Given the description of an element on the screen output the (x, y) to click on. 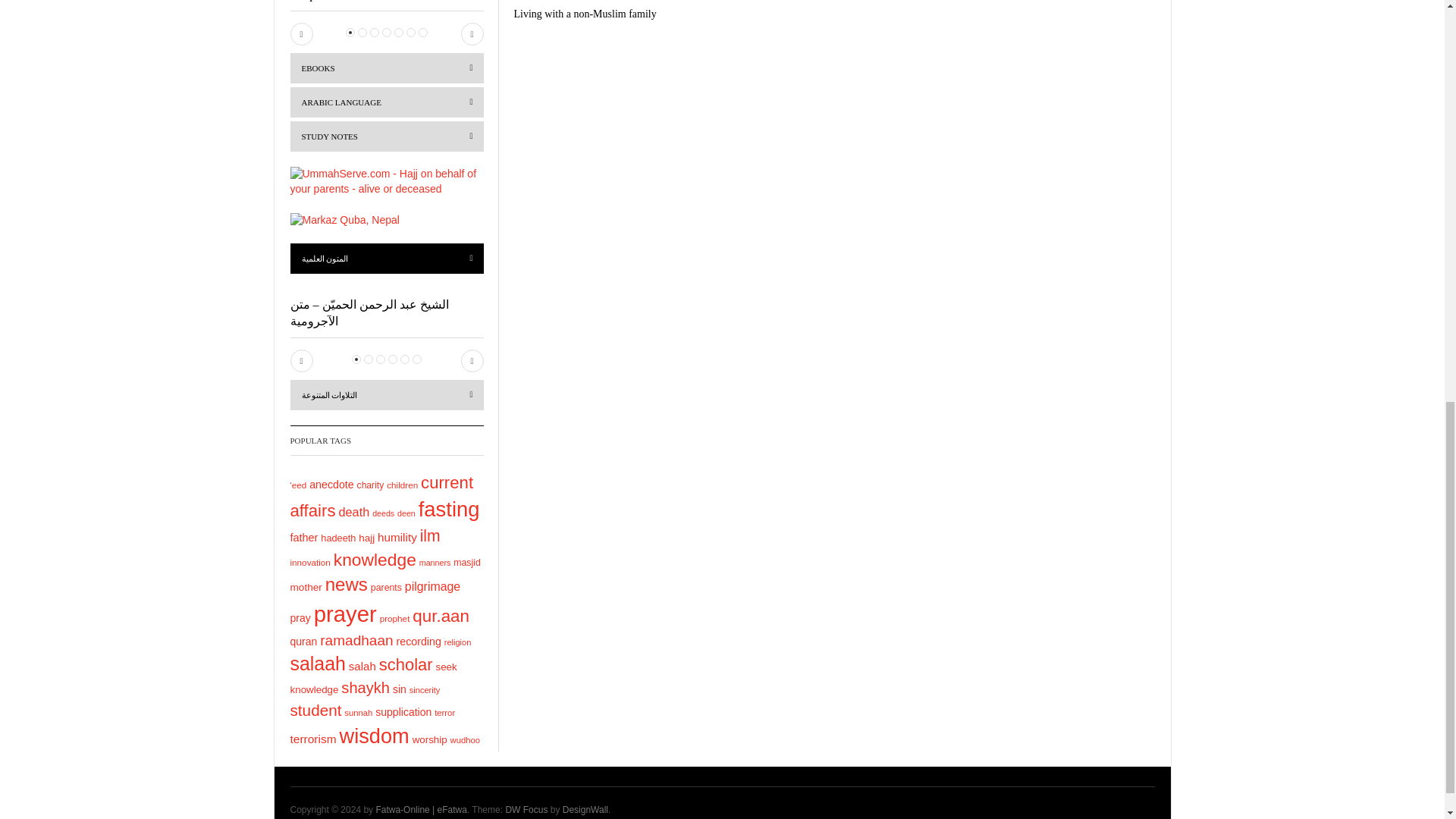
Markaz Quba, Nepal (343, 220)
Permalink to Living with a non-Muslim family (584, 13)
WordPress News Theme (526, 809)
